Given the description of an element on the screen output the (x, y) to click on. 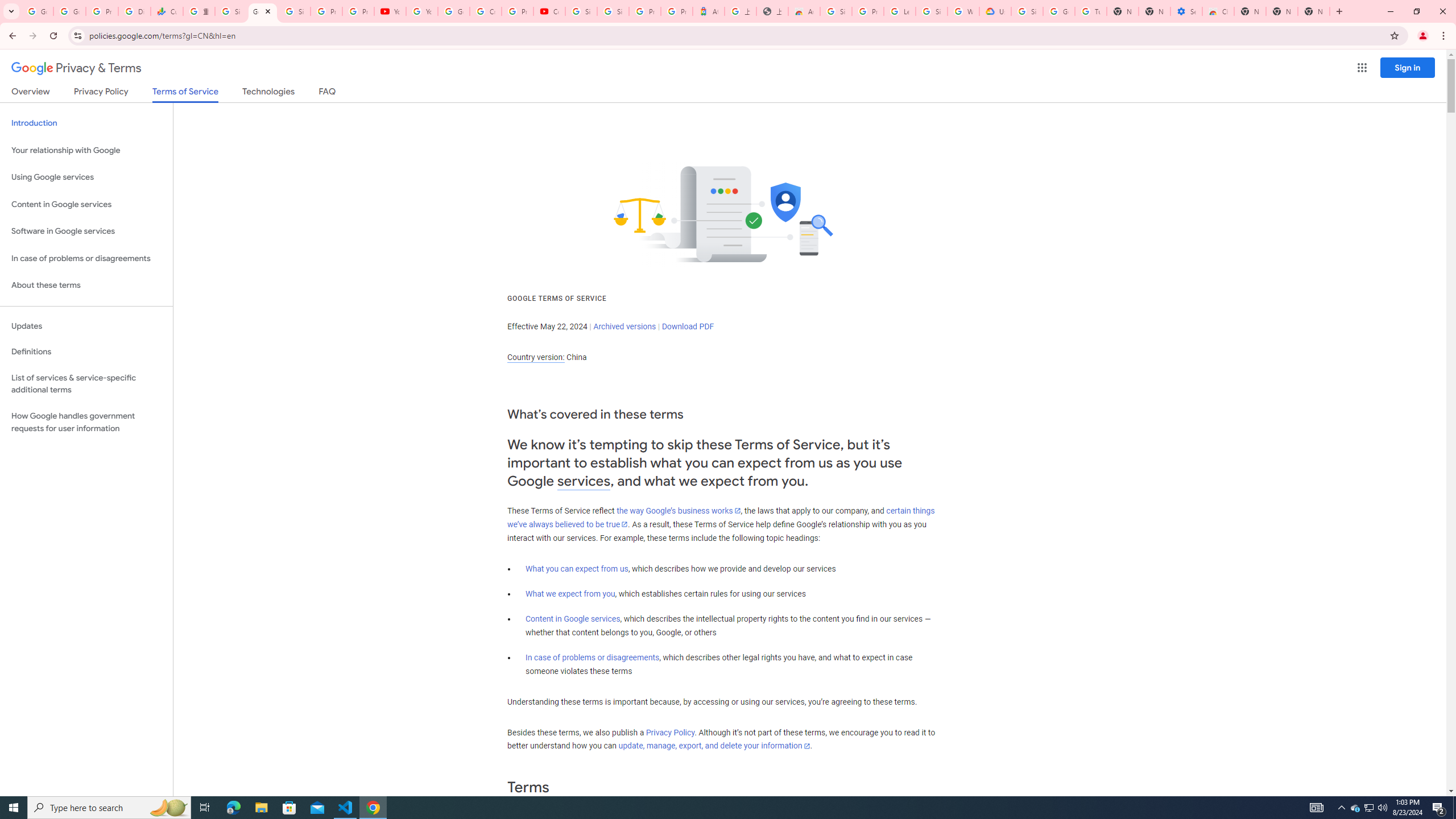
New Tab (1313, 11)
Archived versions (624, 326)
Definitions (86, 352)
Create your Google Account (485, 11)
In case of problems or disagreements (592, 657)
Download PDF (687, 326)
List of services & service-specific additional terms (86, 383)
What you can expect from us (576, 568)
Google Account Help (1059, 11)
